Given the description of an element on the screen output the (x, y) to click on. 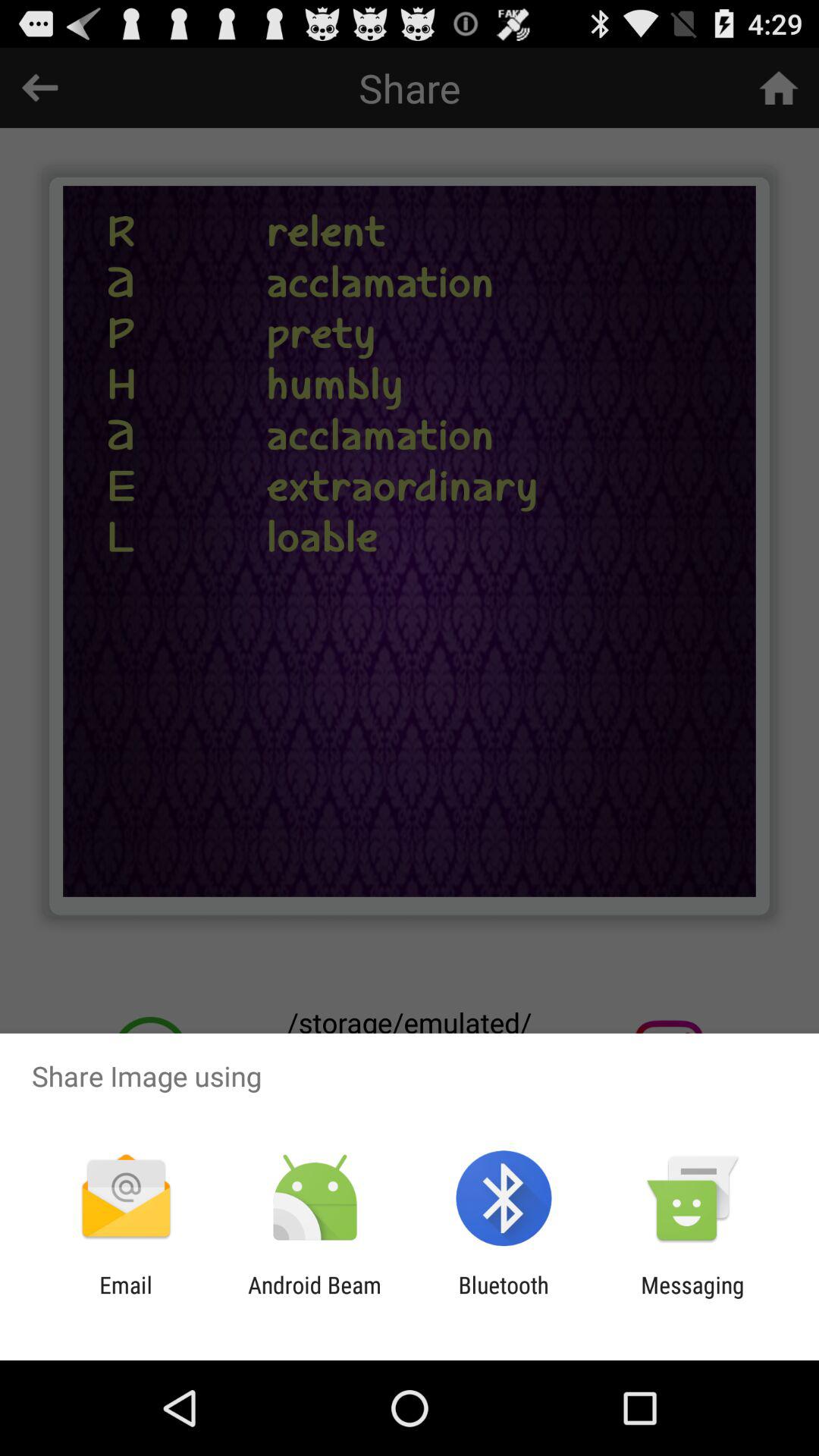
jump to the email app (125, 1298)
